Given the description of an element on the screen output the (x, y) to click on. 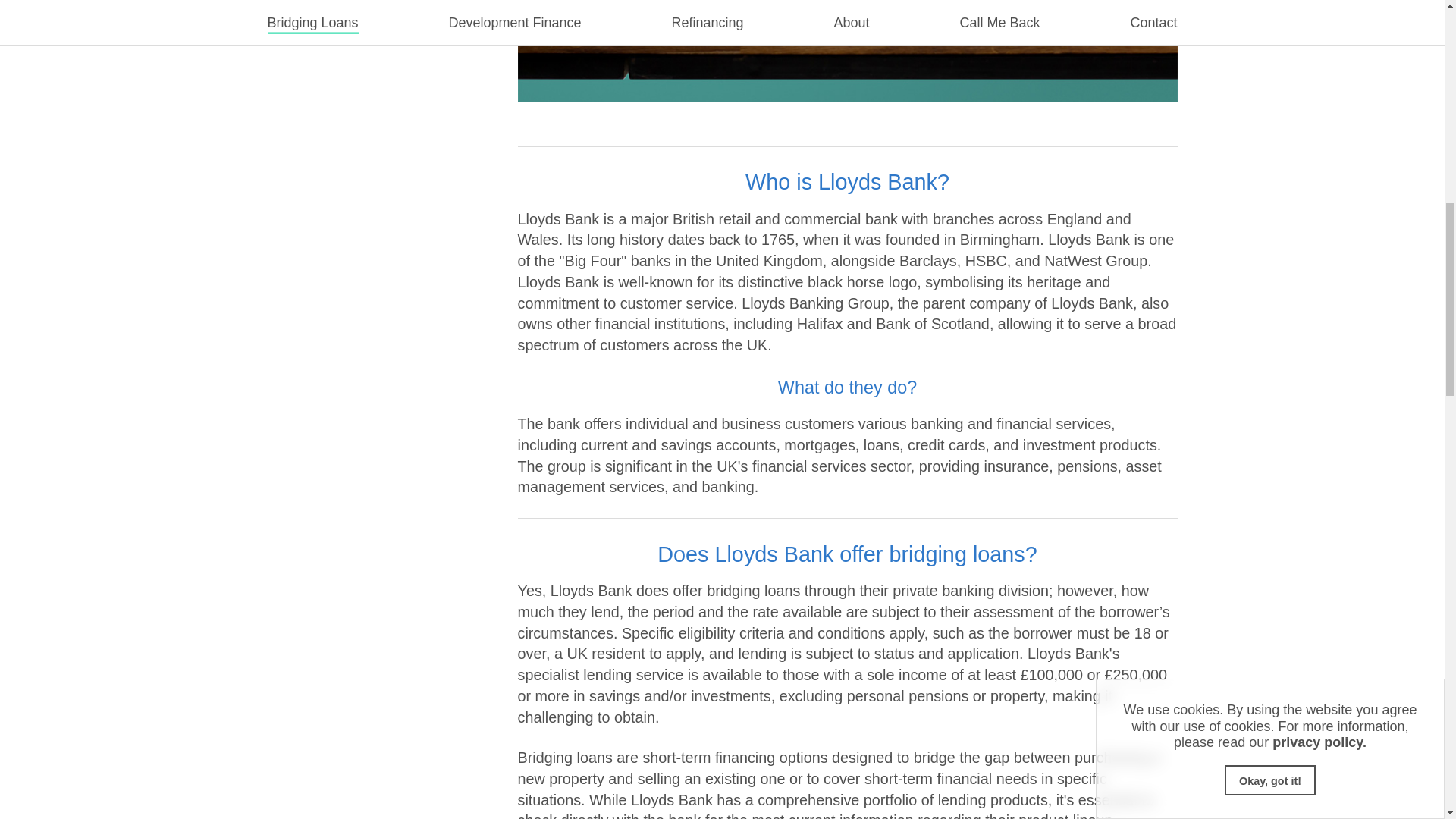
Does Lloyds Bank offer bridging loans? (847, 516)
What are Lloyds Bank's bridging finance rates? (847, 809)
Who is Lloyds Bank? (847, 144)
What do they do? (847, 350)
